Given the description of an element on the screen output the (x, y) to click on. 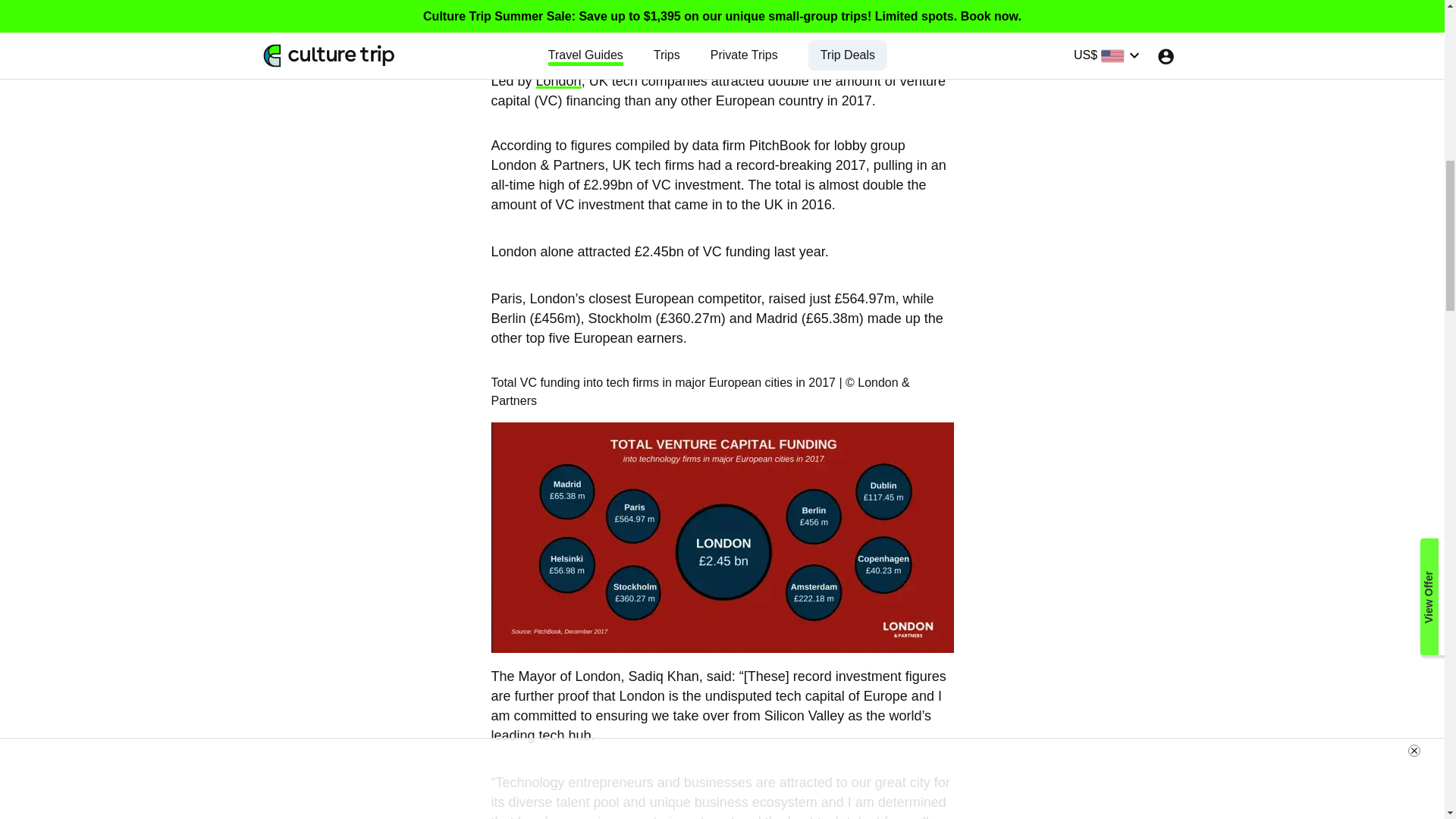
London (557, 80)
Claire Lancaster (383, 18)
09 January 2018 (364, 47)
